Given the description of an element on the screen output the (x, y) to click on. 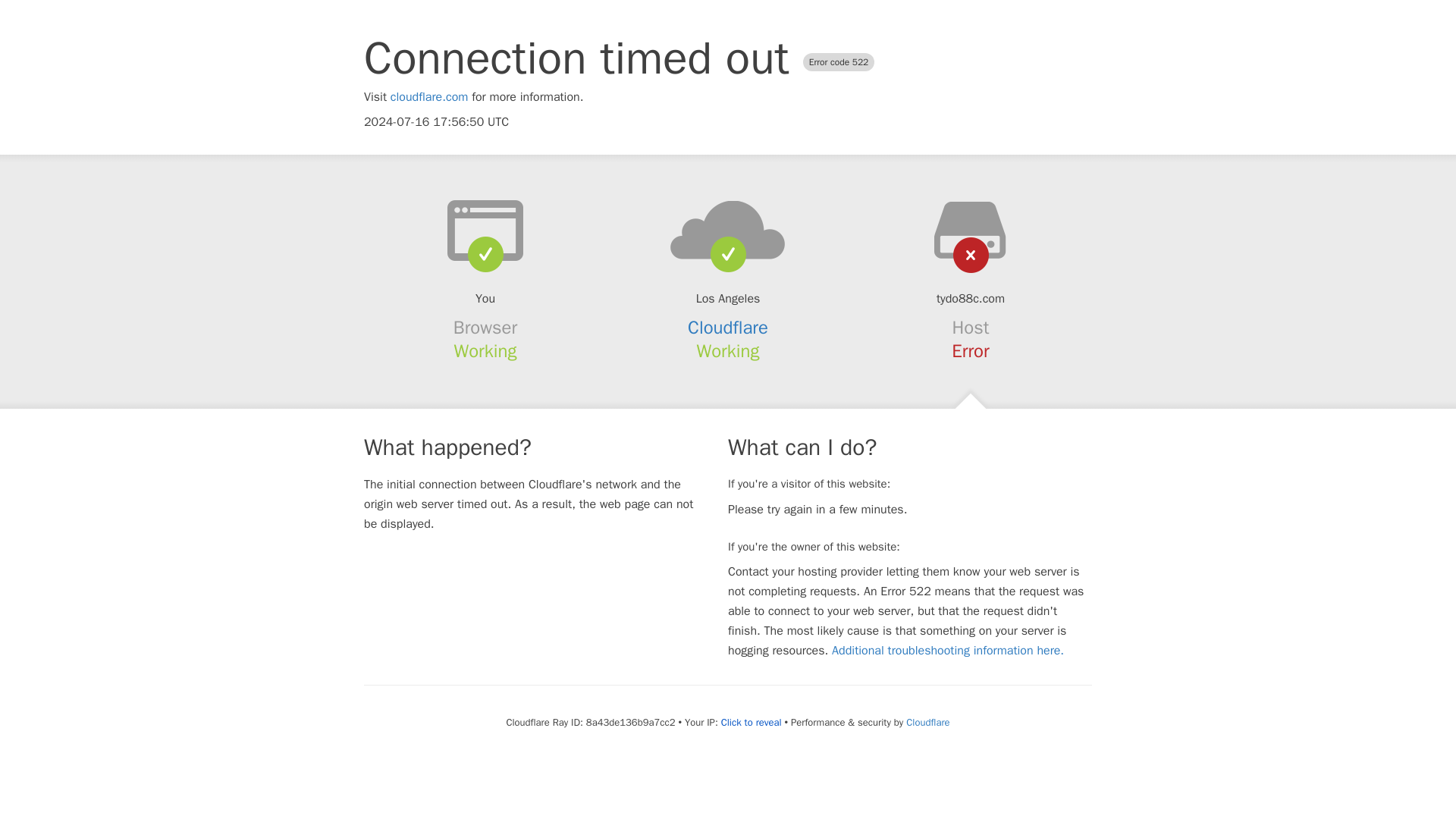
Cloudflare (727, 327)
Cloudflare (927, 721)
Additional troubleshooting information here. (947, 650)
Click to reveal (750, 722)
cloudflare.com (429, 96)
